Given the description of an element on the screen output the (x, y) to click on. 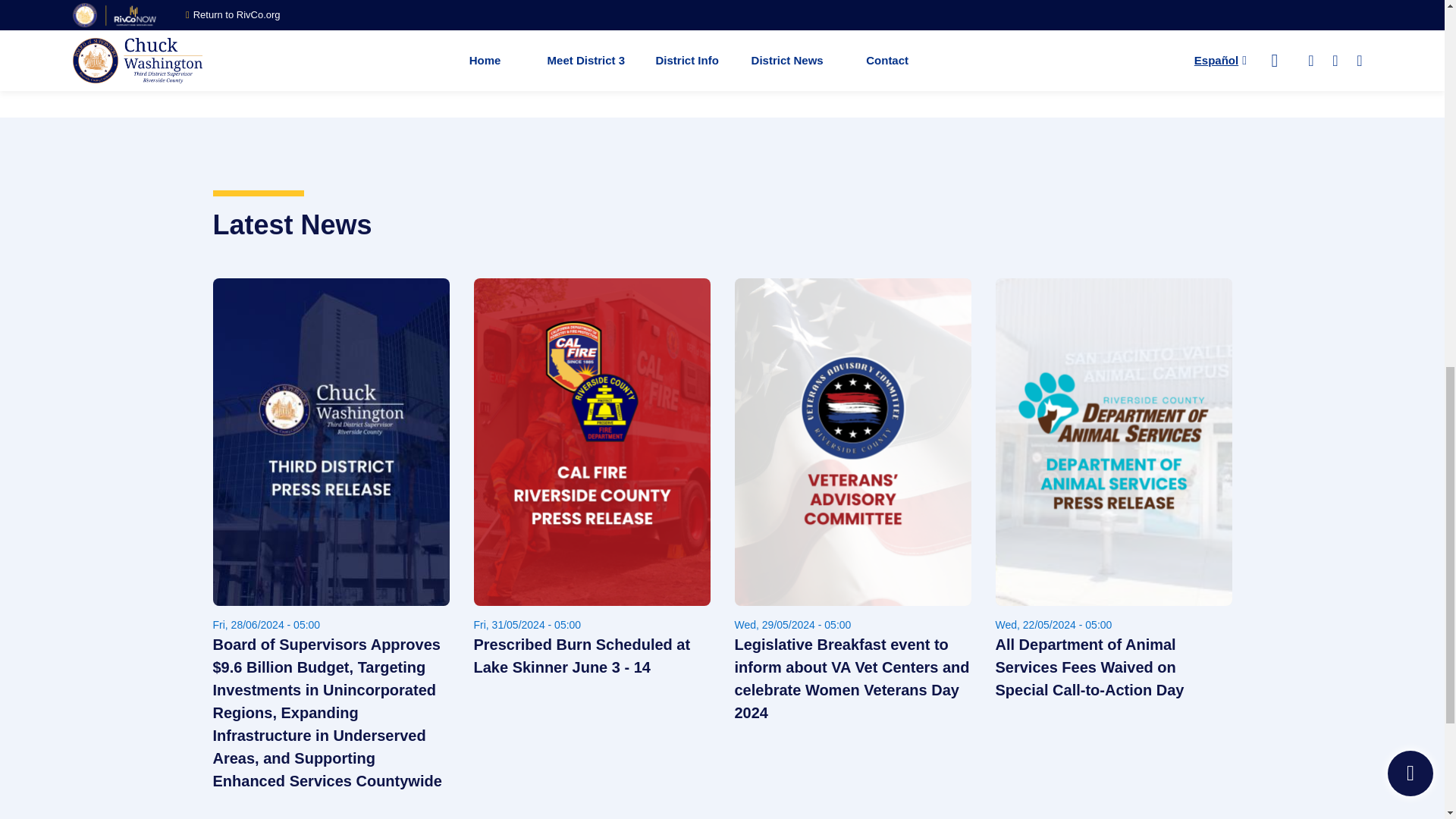
Appointment Board Agenda Item (405, 47)
Prescribed Burn Scheduled at Lake Skinner June 3 - 14 (591, 655)
